Given the description of an element on the screen output the (x, y) to click on. 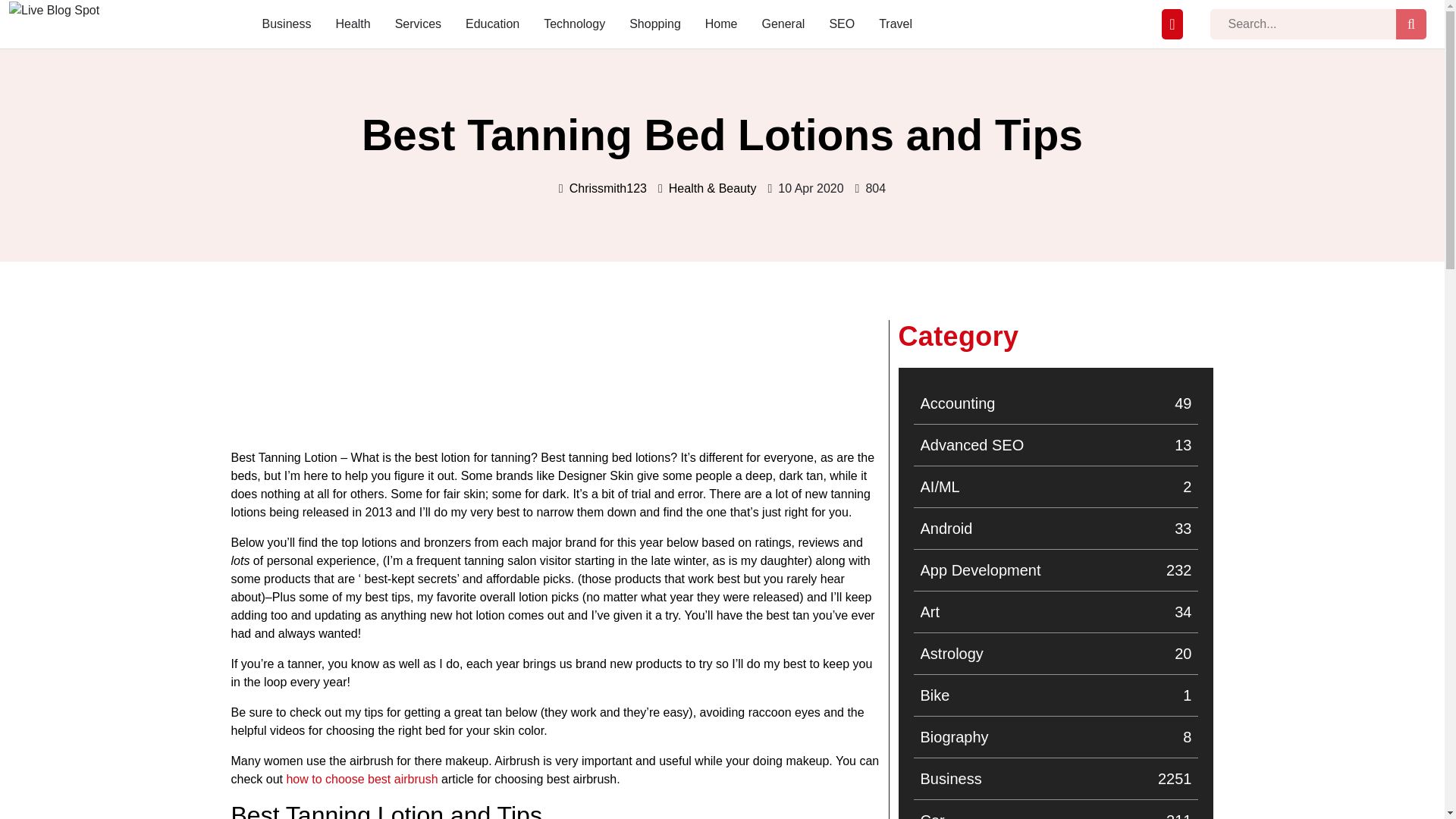
How to Choose Best Airbrush (361, 779)
Education (492, 24)
Shopping (654, 24)
Live Blog Spot (1056, 778)
Best Tanning Bed Lotions and Tips (1056, 527)
Chrissmith123 (1056, 445)
General (53, 30)
Posts by chrissmith123 (1056, 694)
